Given the description of an element on the screen output the (x, y) to click on. 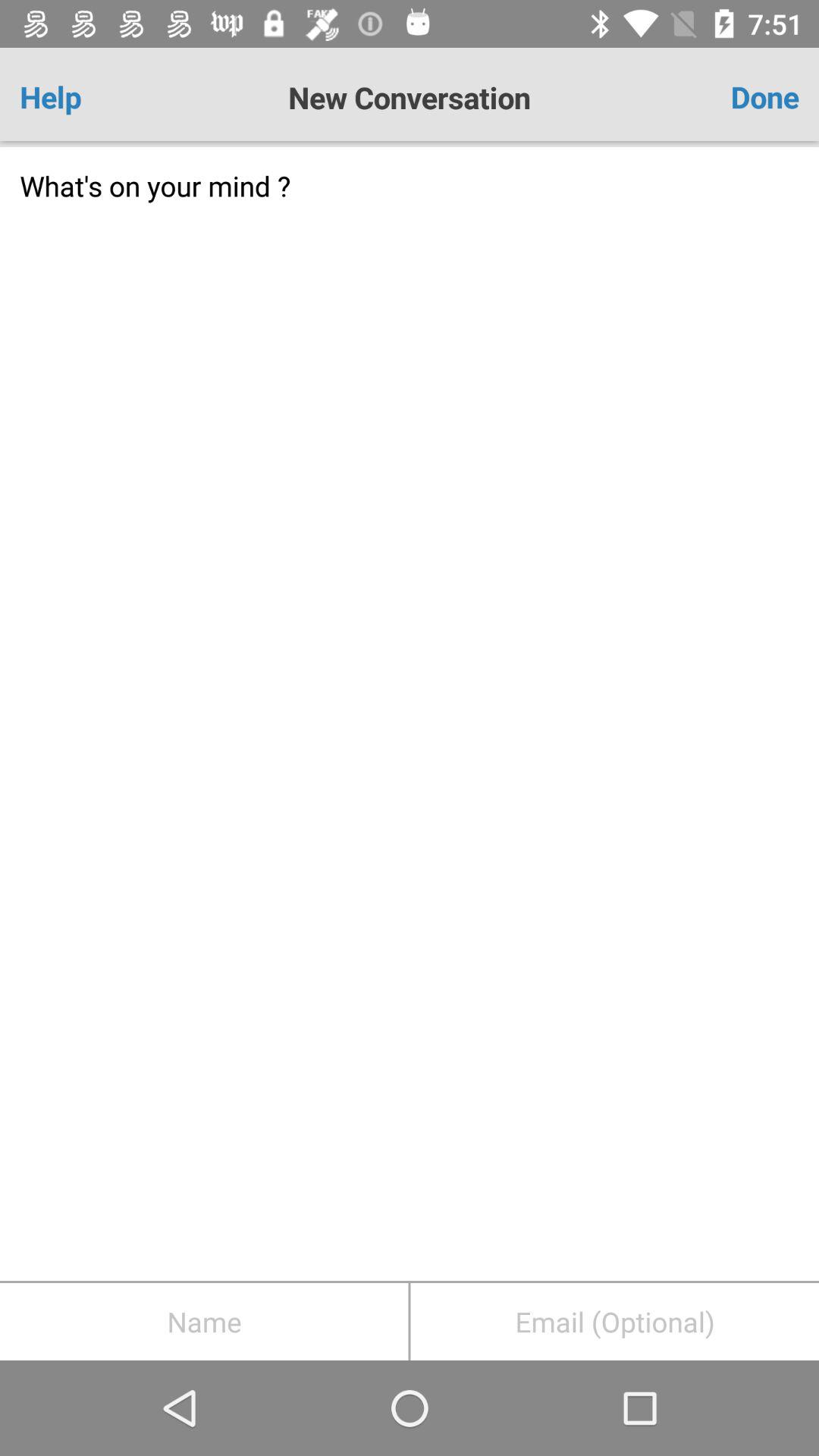
open item next to new conversation (735, 97)
